Given the description of an element on the screen output the (x, y) to click on. 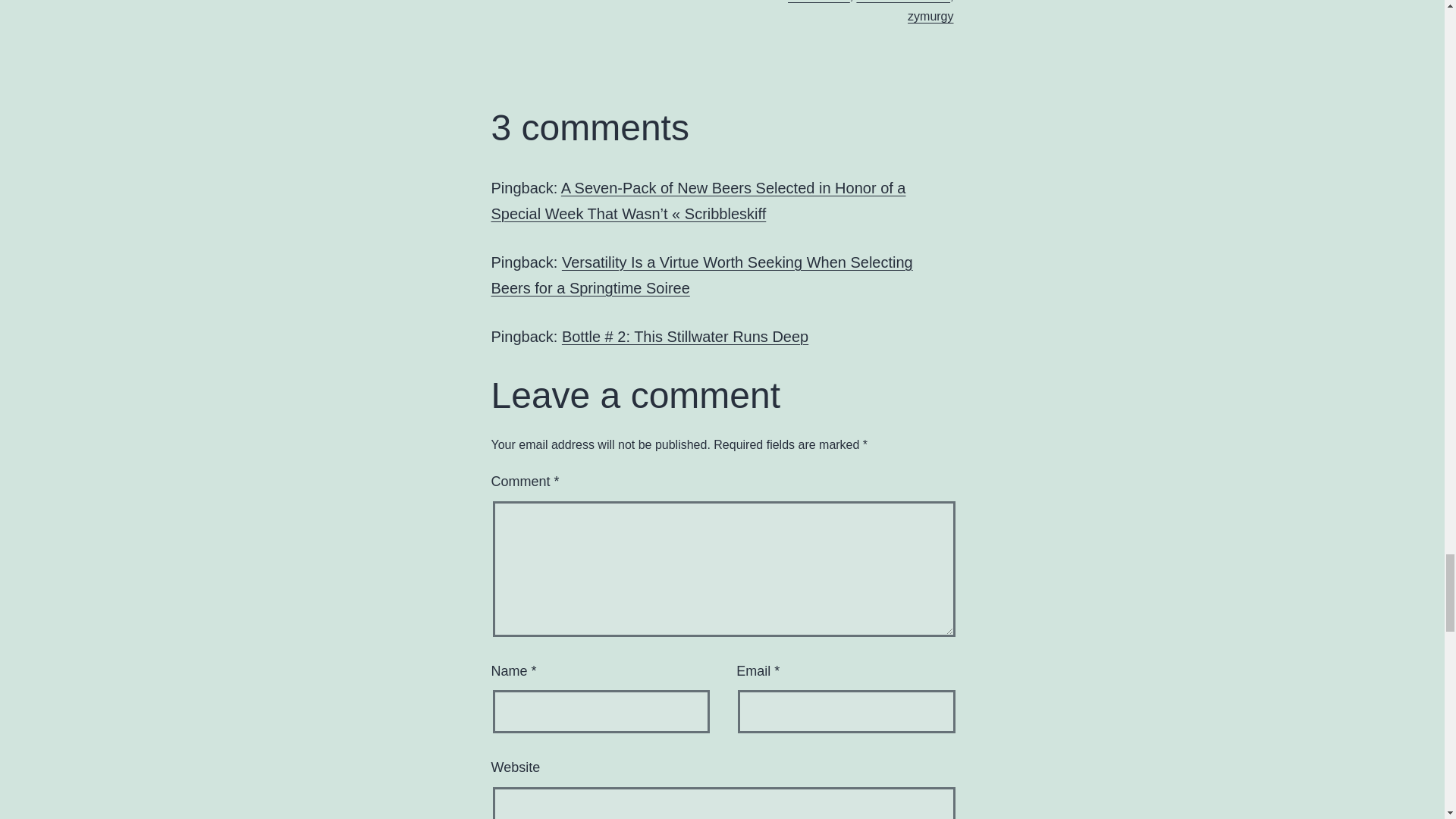
The Wine Source (903, 1)
microbrews (818, 1)
zymurgy (930, 15)
